Given the description of an element on the screen output the (x, y) to click on. 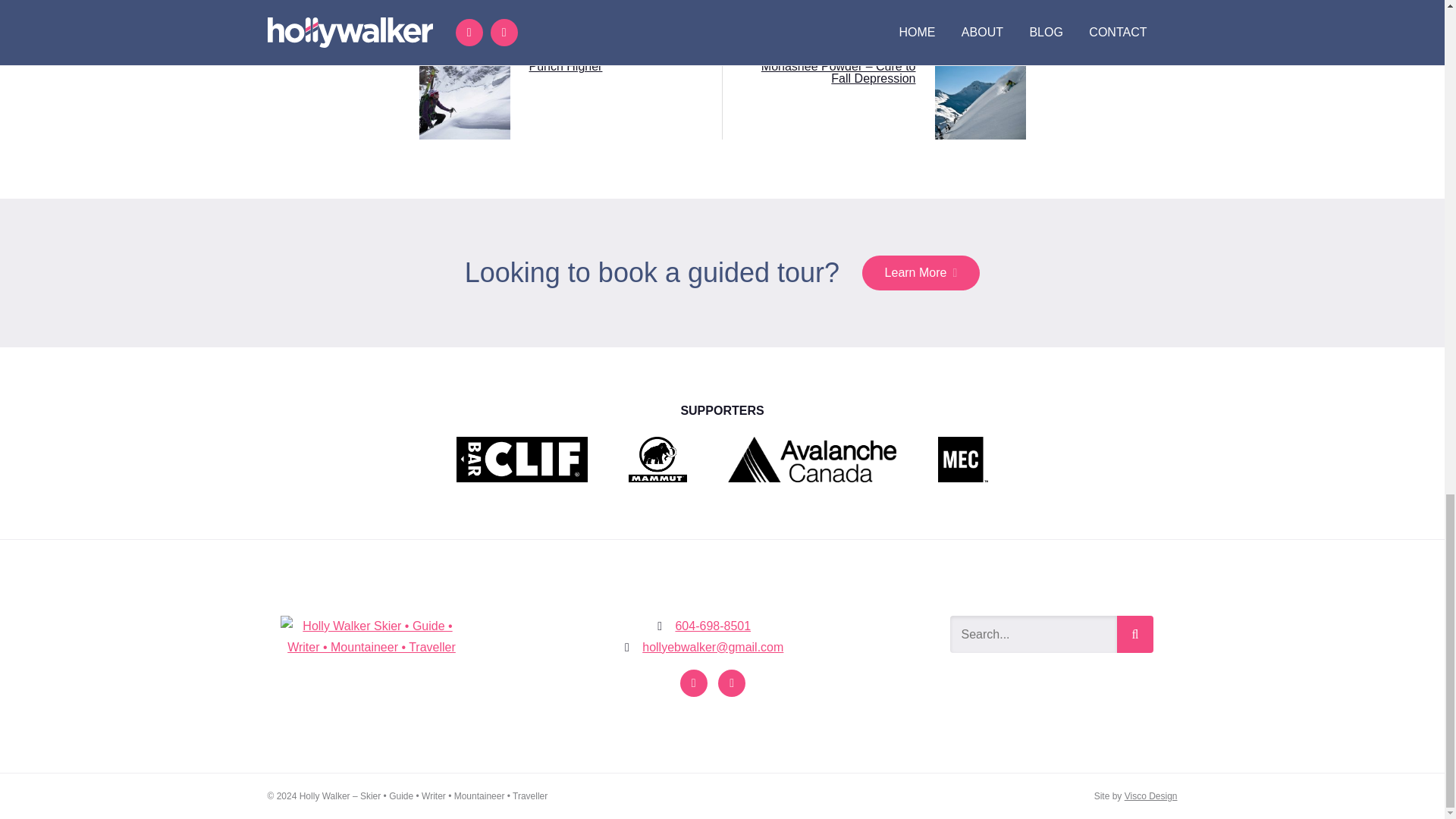
Search for: (1032, 633)
604-698-8501 (713, 625)
Learn More (920, 272)
Search (1134, 633)
Twitter (731, 681)
Instagram (693, 681)
Visco Design (1150, 796)
